Given the description of an element on the screen output the (x, y) to click on. 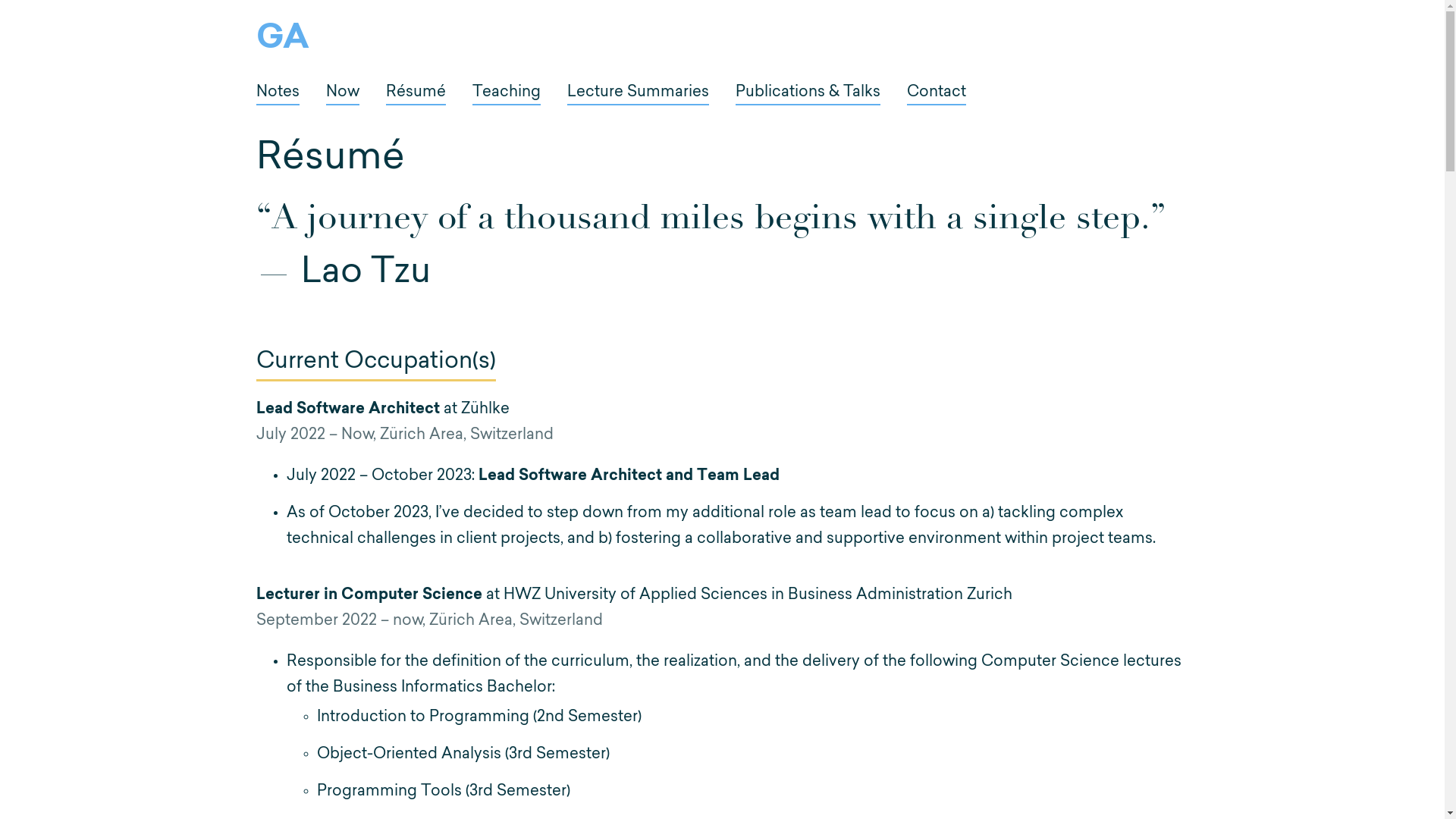
Notes Element type: text (277, 94)
Teaching Element type: text (505, 94)
Now Element type: text (342, 94)
Publications & Talks Element type: text (807, 94)
GA Element type: text (282, 40)
Contact Element type: text (936, 94)
Lecture Summaries Element type: text (638, 94)
